Given the description of an element on the screen output the (x, y) to click on. 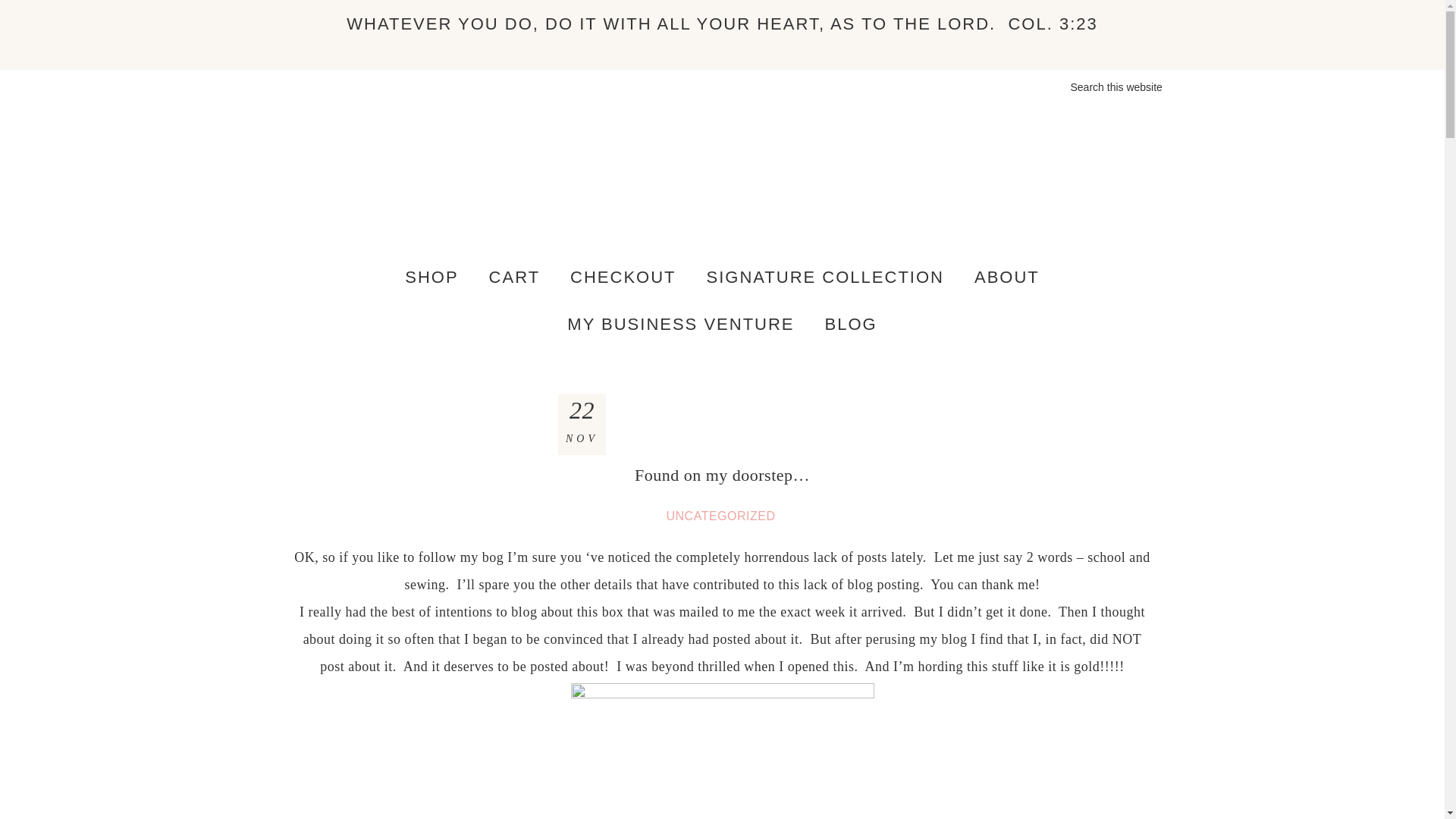
Store (431, 277)
BLOG (850, 324)
About (1006, 277)
MY BUSINESS VENTURE (680, 324)
UNCATEGORIZED (721, 515)
SIGNATURE COLLECTION (825, 277)
CHECKOUT (622, 277)
SEW A FINE SEAM (722, 187)
CART (515, 277)
SHOP (431, 277)
ABOUT (1006, 277)
